Given the description of an element on the screen output the (x, y) to click on. 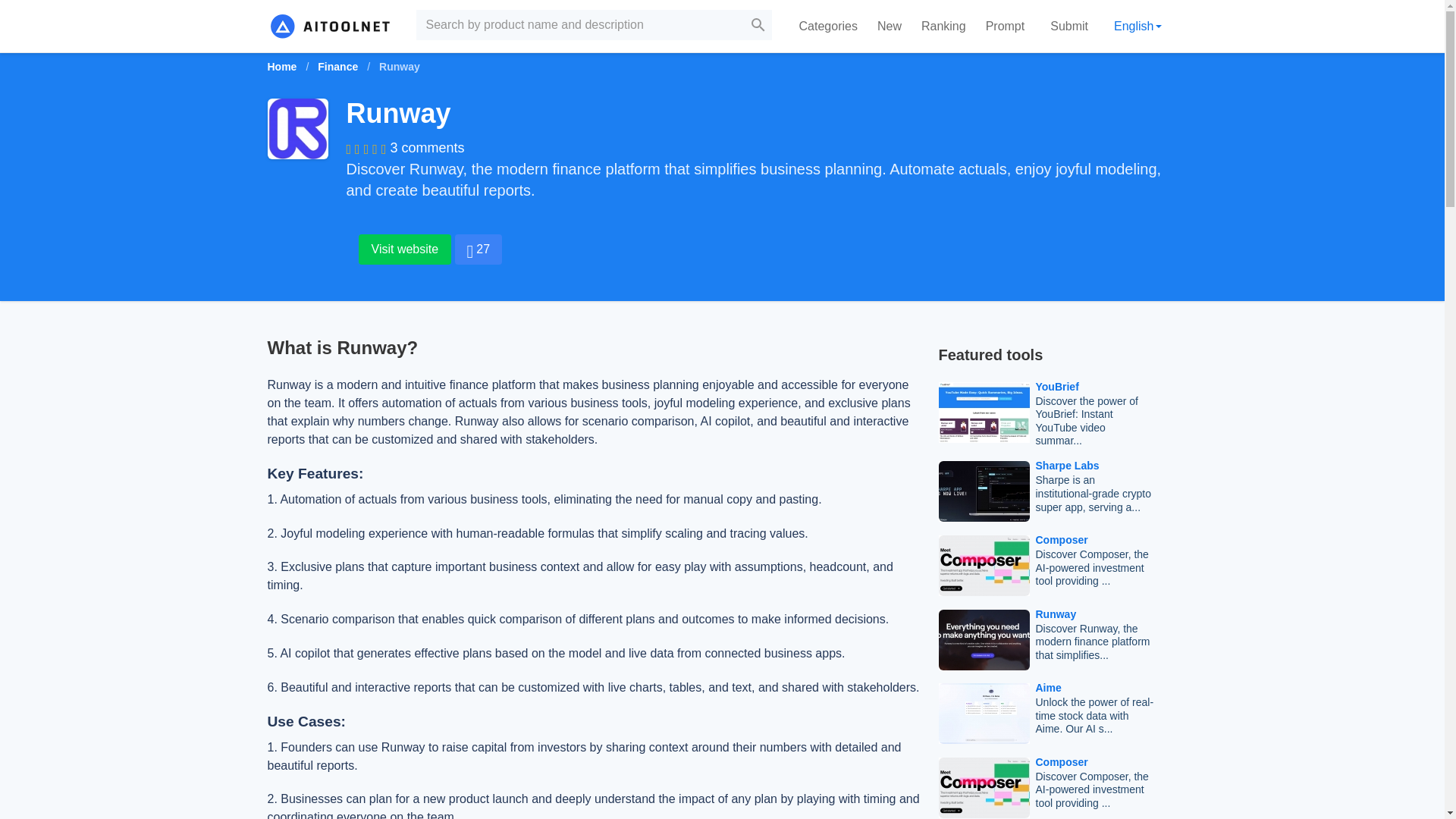
Home (285, 66)
Prompt (1005, 25)
New (889, 25)
Finance (337, 66)
Ranking (943, 25)
Submit (1069, 25)
27 (478, 249)
Categories (828, 25)
English (1137, 25)
Runway (296, 128)
